Given the description of an element on the screen output the (x, y) to click on. 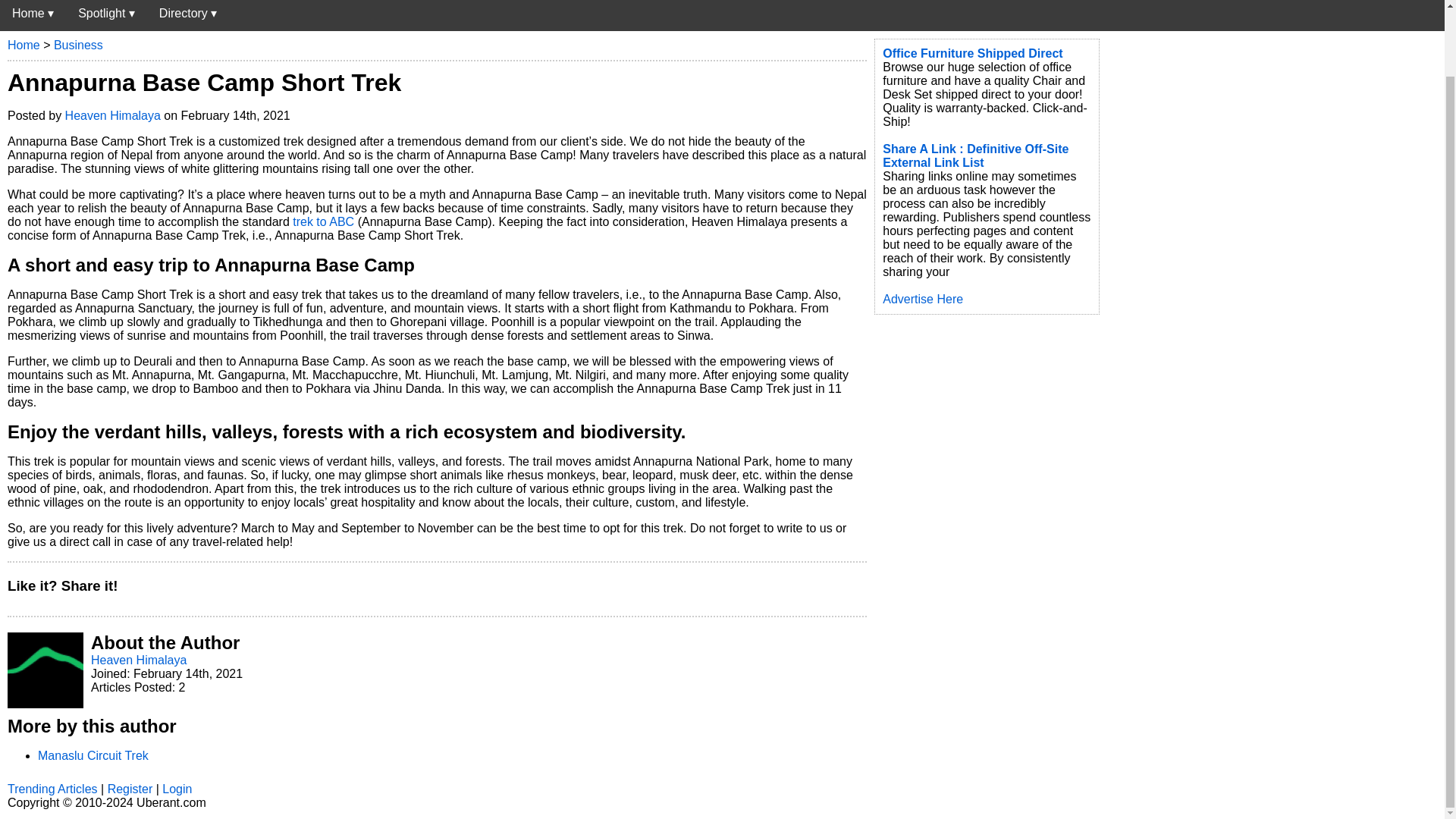
Uberant (32, 12)
